Given the description of an element on the screen output the (x, y) to click on. 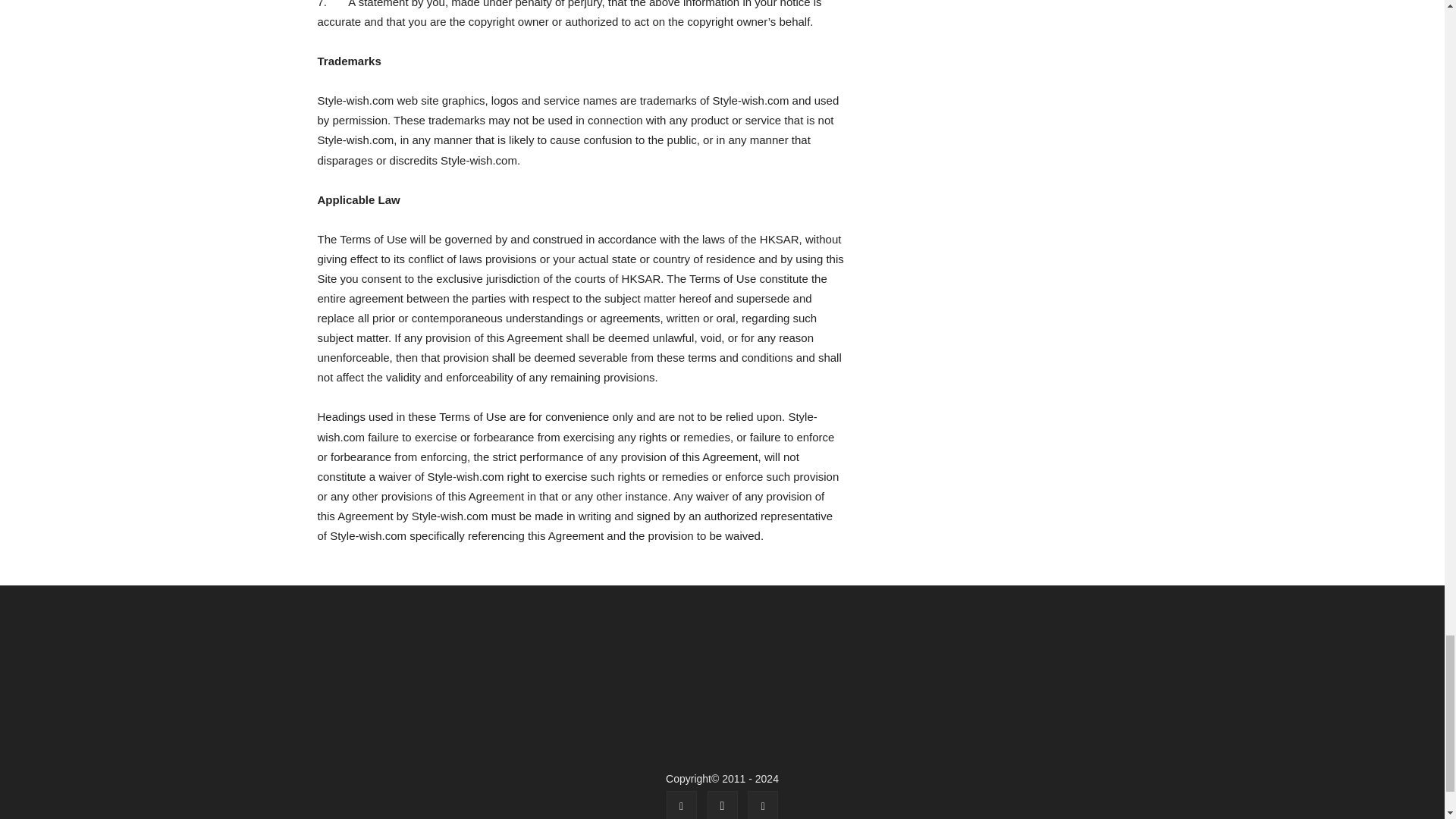
Instagram (721, 805)
Youtube (762, 805)
Facebook (681, 805)
